Given the description of an element on the screen output the (x, y) to click on. 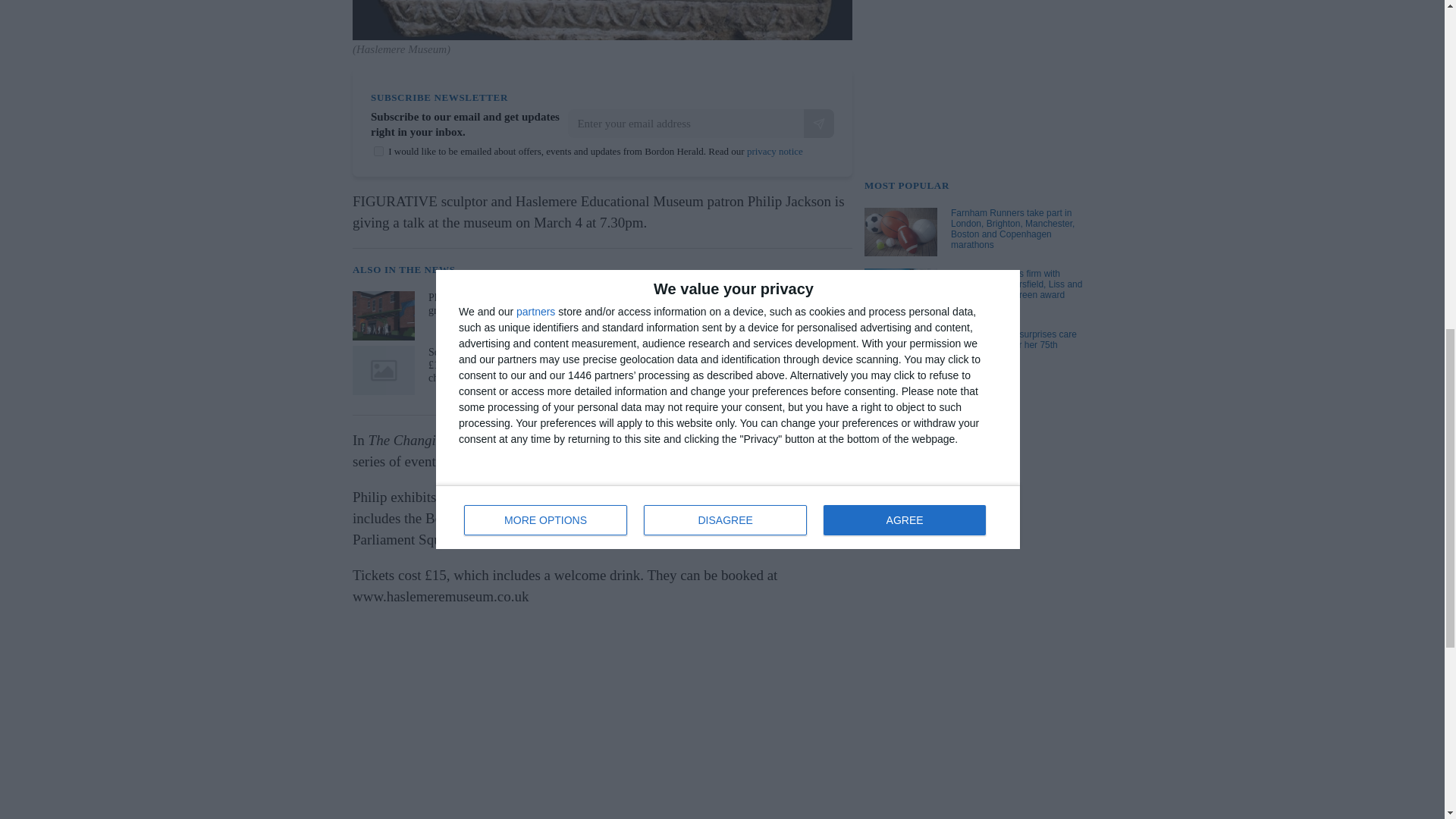
privacy notice (774, 151)
Queen (678, 539)
